Given the description of an element on the screen output the (x, y) to click on. 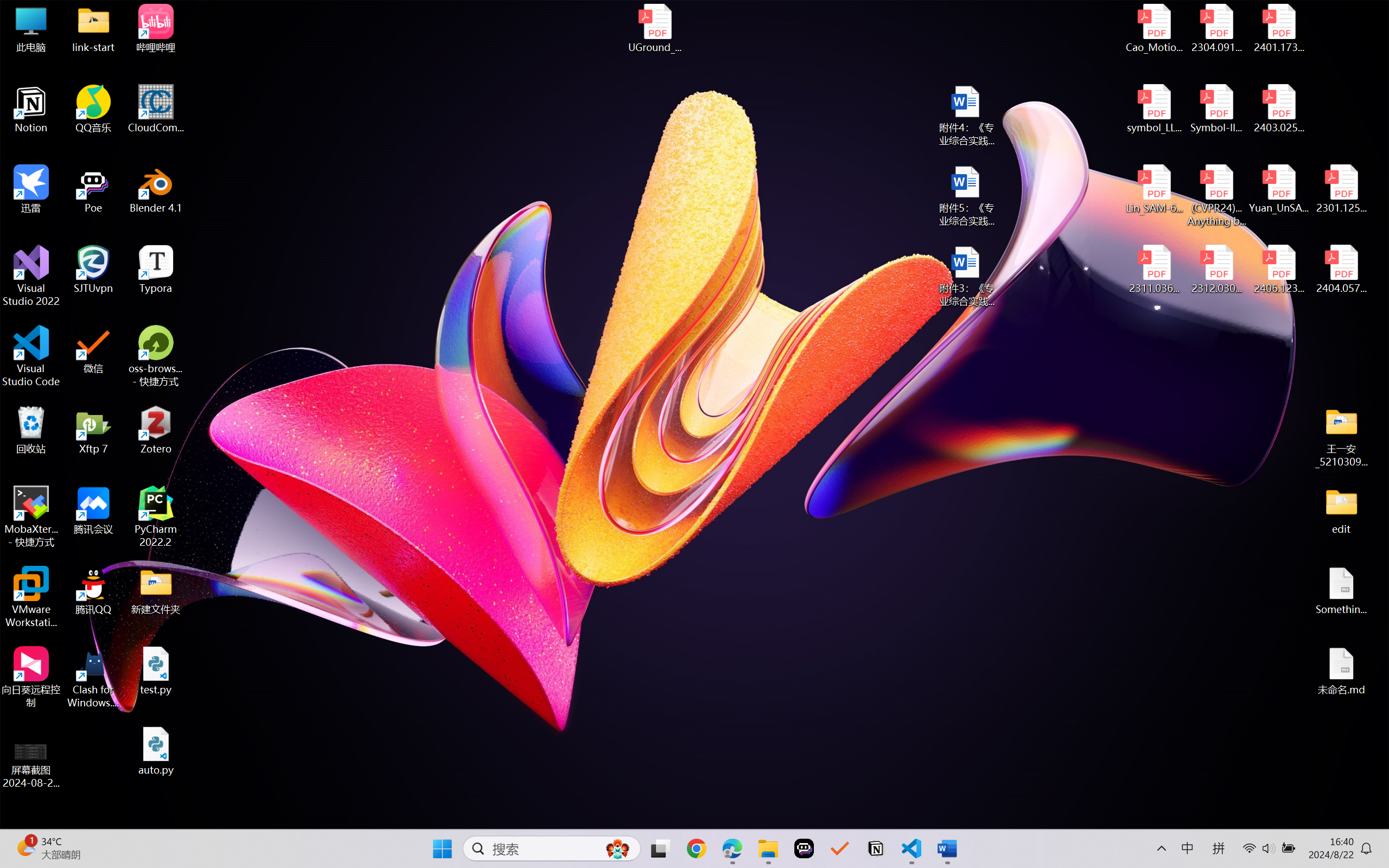
Something.md (1340, 591)
symbol_LLM.pdf (1154, 109)
2406.12373v2.pdf (1278, 269)
Xftp 7 (93, 430)
SJTUvpn (93, 269)
Notion (875, 848)
auto.py (156, 751)
Google Chrome (696, 848)
